Given the description of an element on the screen output the (x, y) to click on. 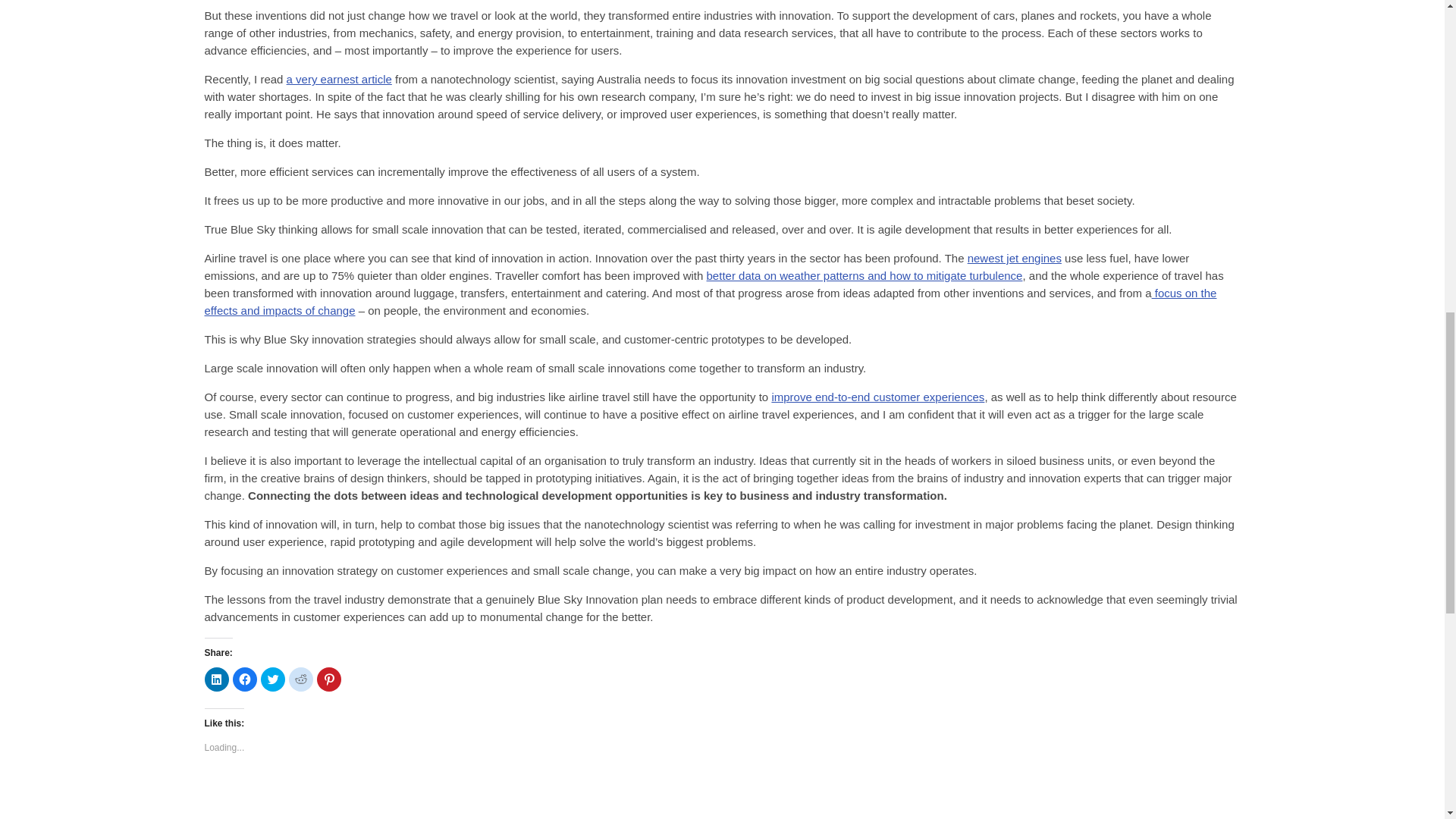
Click to share on Twitter (272, 679)
Click to share on LinkedIn (216, 679)
newest jet engines (1014, 257)
Click to share on Reddit (300, 679)
Click to share on Facebook (243, 679)
focus on the effects and impacts of change (711, 301)
a very earnest article (338, 78)
Like or Reblog (722, 799)
improve end-to-end customer experiences (877, 396)
Click to share on Pinterest (328, 679)
